Given the description of an element on the screen output the (x, y) to click on. 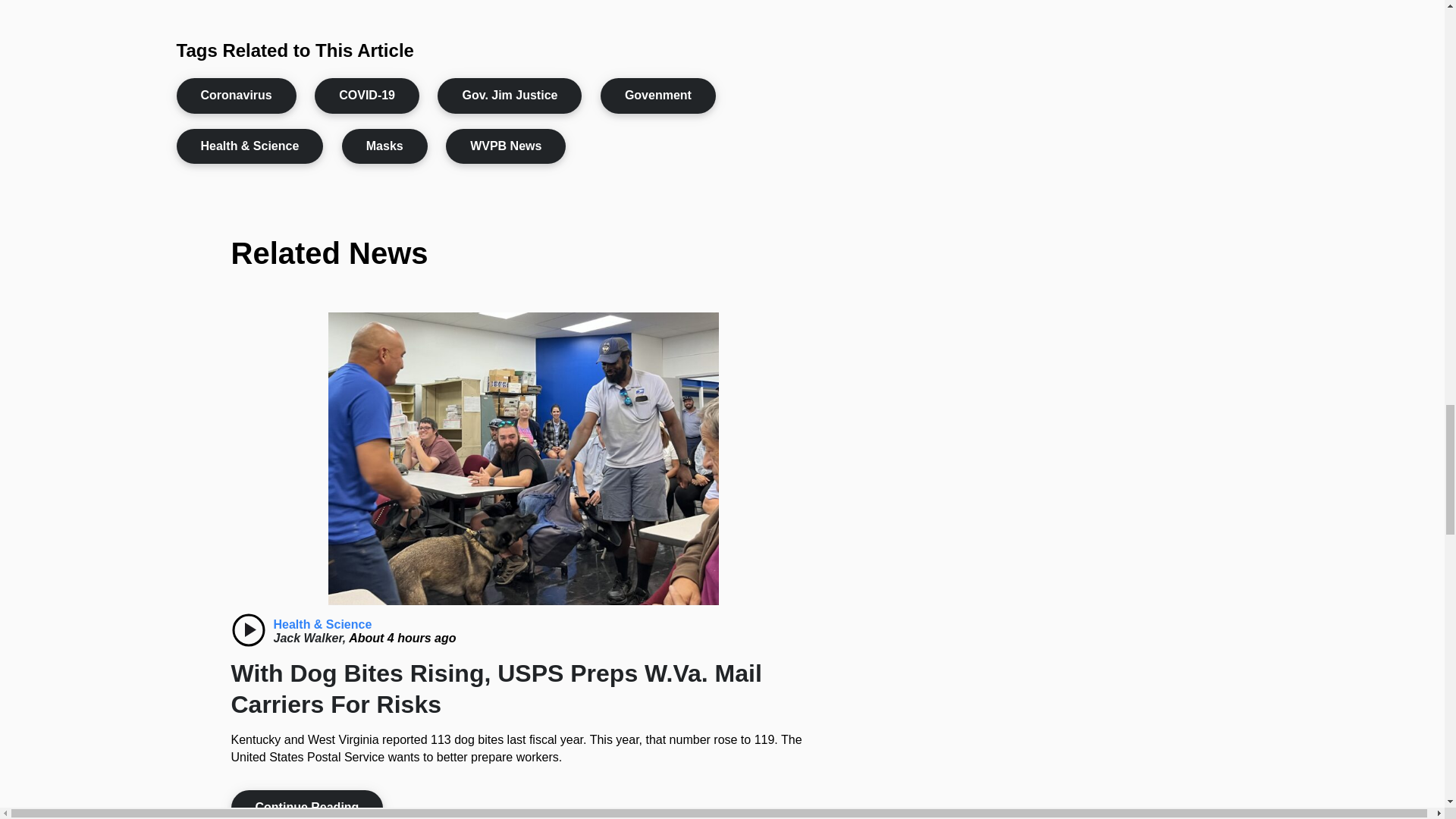
Jack Walker (311, 637)
COVID-19 (366, 95)
Coronavirus (235, 95)
Govenment (657, 95)
Gov. Jim Justice (509, 95)
WVPB News (505, 145)
Masks (385, 145)
